Given the description of an element on the screen output the (x, y) to click on. 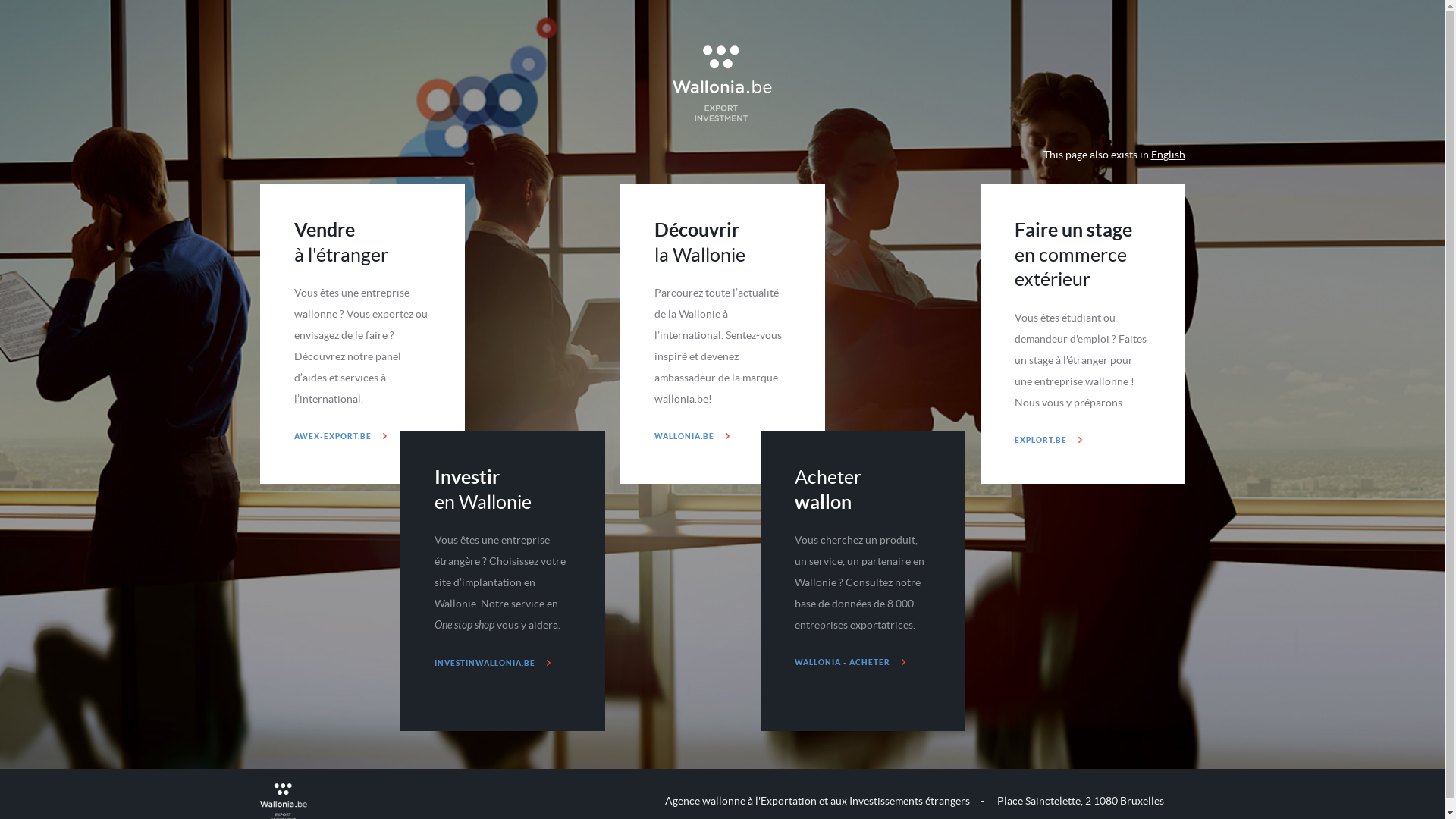
Acheter
wallon Element type: text (827, 489)
English Element type: text (1168, 154)
WALLONIA.BE Element type: text (690, 435)
AWEX-EXPORT.BE Element type: text (340, 435)
EXPLORT.BE Element type: text (1048, 439)
Awex Element type: text (721, 83)
WALLONIA - ACHETER Element type: text (849, 661)
INVESTINWALLONIA.BE Element type: text (491, 662)
Investir
en Wallonie Element type: text (481, 489)
